Given the description of an element on the screen output the (x, y) to click on. 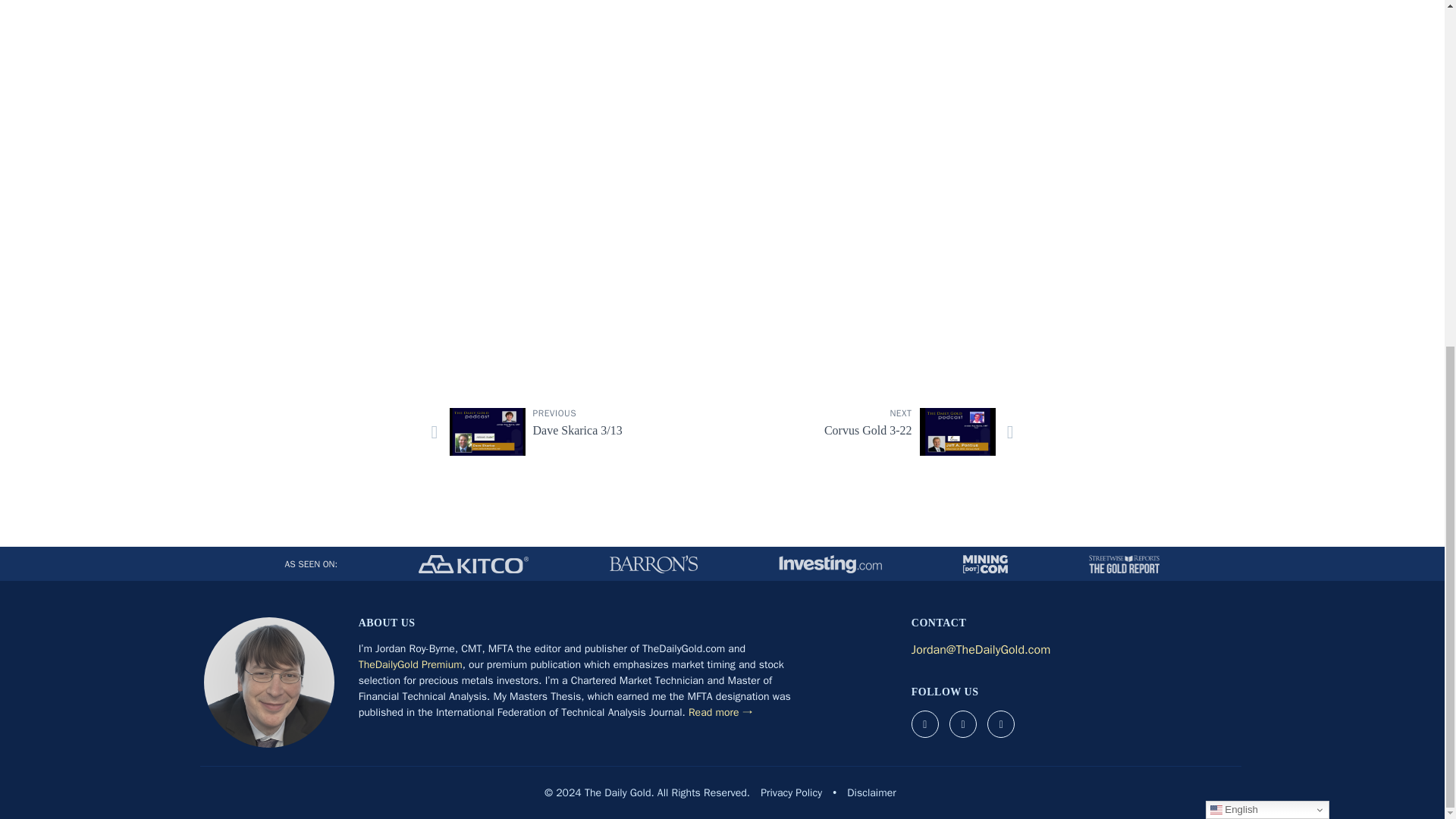
Disclaimer (871, 792)
English (1267, 215)
TheDailyGold Premium (873, 431)
Privacy Policy (410, 664)
